Given the description of an element on the screen output the (x, y) to click on. 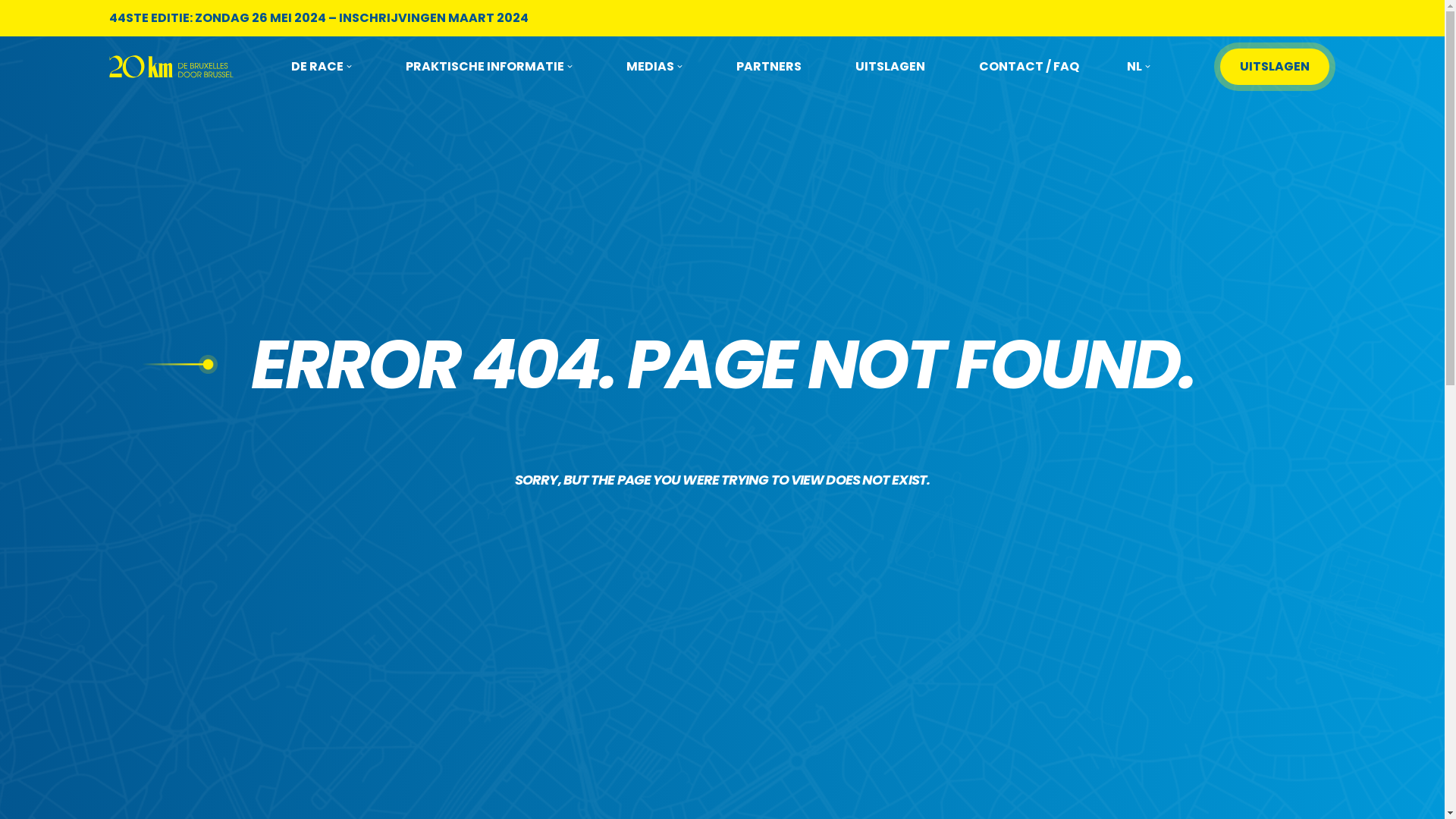
DE RACE Element type: text (321, 66)
PRAKTISCHE INFORMATIE Element type: text (488, 66)
PARTNERS Element type: text (768, 66)
MEDIAS Element type: text (654, 66)
UITSLAGEN Element type: text (1274, 66)
UITSLAGEN Element type: text (890, 66)
CONTACT / FAQ Element type: text (1029, 66)
